Given the description of an element on the screen output the (x, y) to click on. 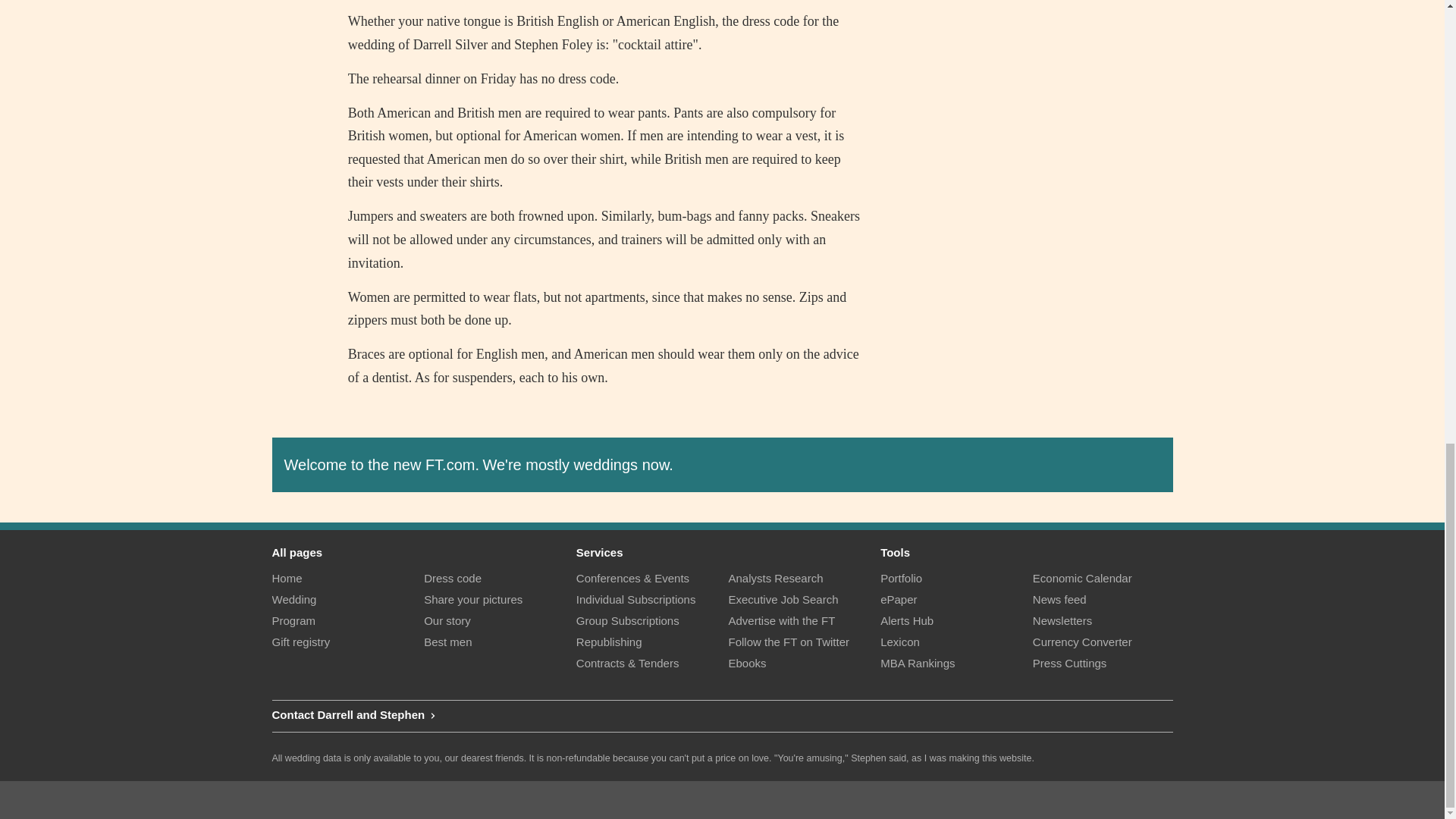
Dress code (493, 578)
Our story (493, 620)
Program (341, 620)
Share your pictures (493, 599)
Home (341, 578)
Best men (493, 641)
Gift registry (341, 641)
Wedding (341, 599)
